Given the description of an element on the screen output the (x, y) to click on. 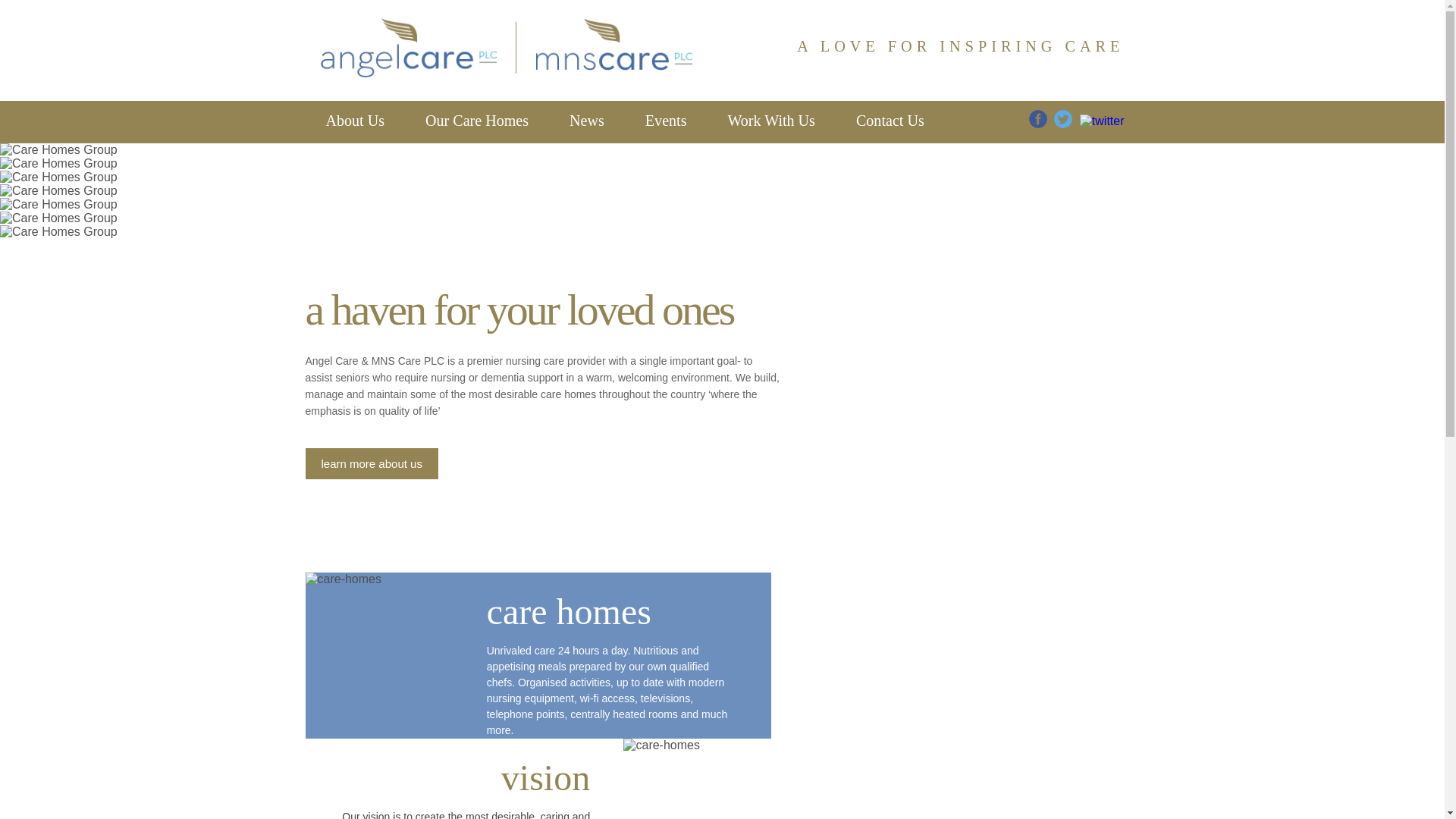
Cherrytrees (60, 188)
Orchid Care (62, 133)
Sai Ram Villa (67, 160)
learn more about us (371, 463)
About Us (354, 121)
Windy Ridge (65, 147)
Mabbs Hall (59, 201)
Newlands (54, 174)
Contact Us (889, 121)
Our Care Homes (476, 121)
